Given the description of an element on the screen output the (x, y) to click on. 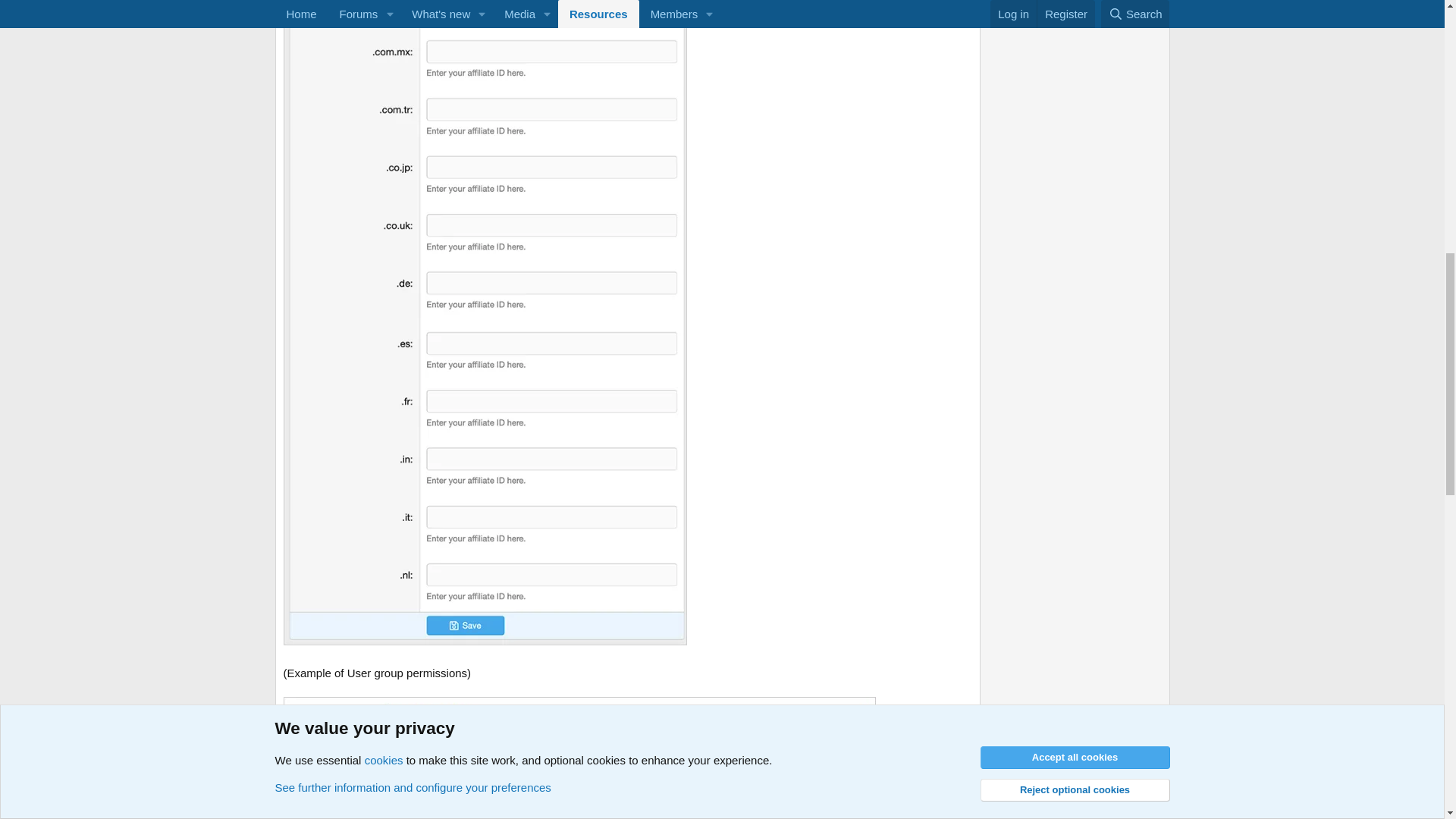
156993 (579, 731)
156993 (579, 729)
